Given the description of an element on the screen output the (x, y) to click on. 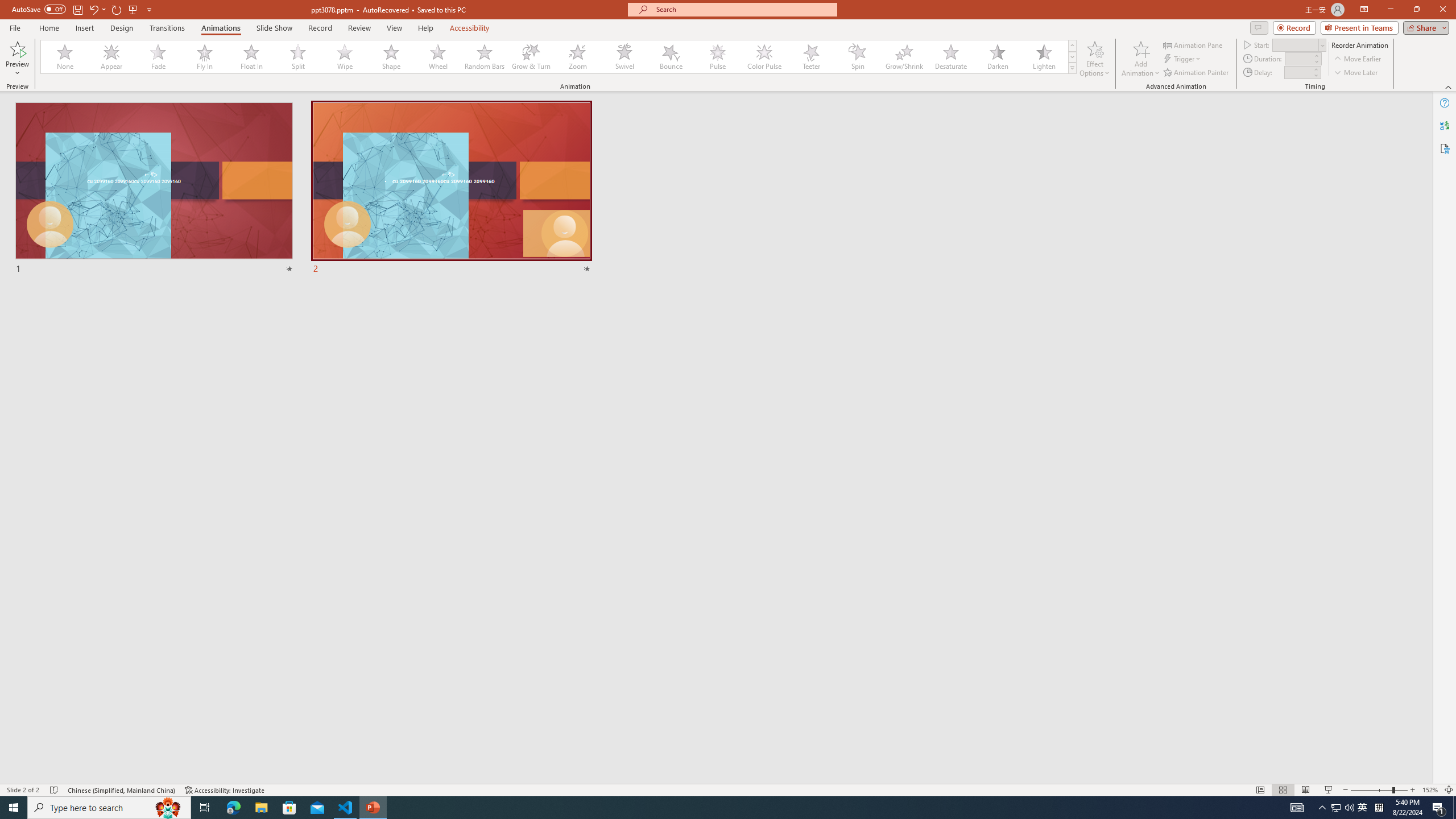
Animation Painter (1196, 72)
Add Animation (1141, 58)
Effect Options (1094, 58)
Shape (391, 56)
Wheel (437, 56)
Float In (251, 56)
Grow/Shrink (903, 56)
